Given the description of an element on the screen output the (x, y) to click on. 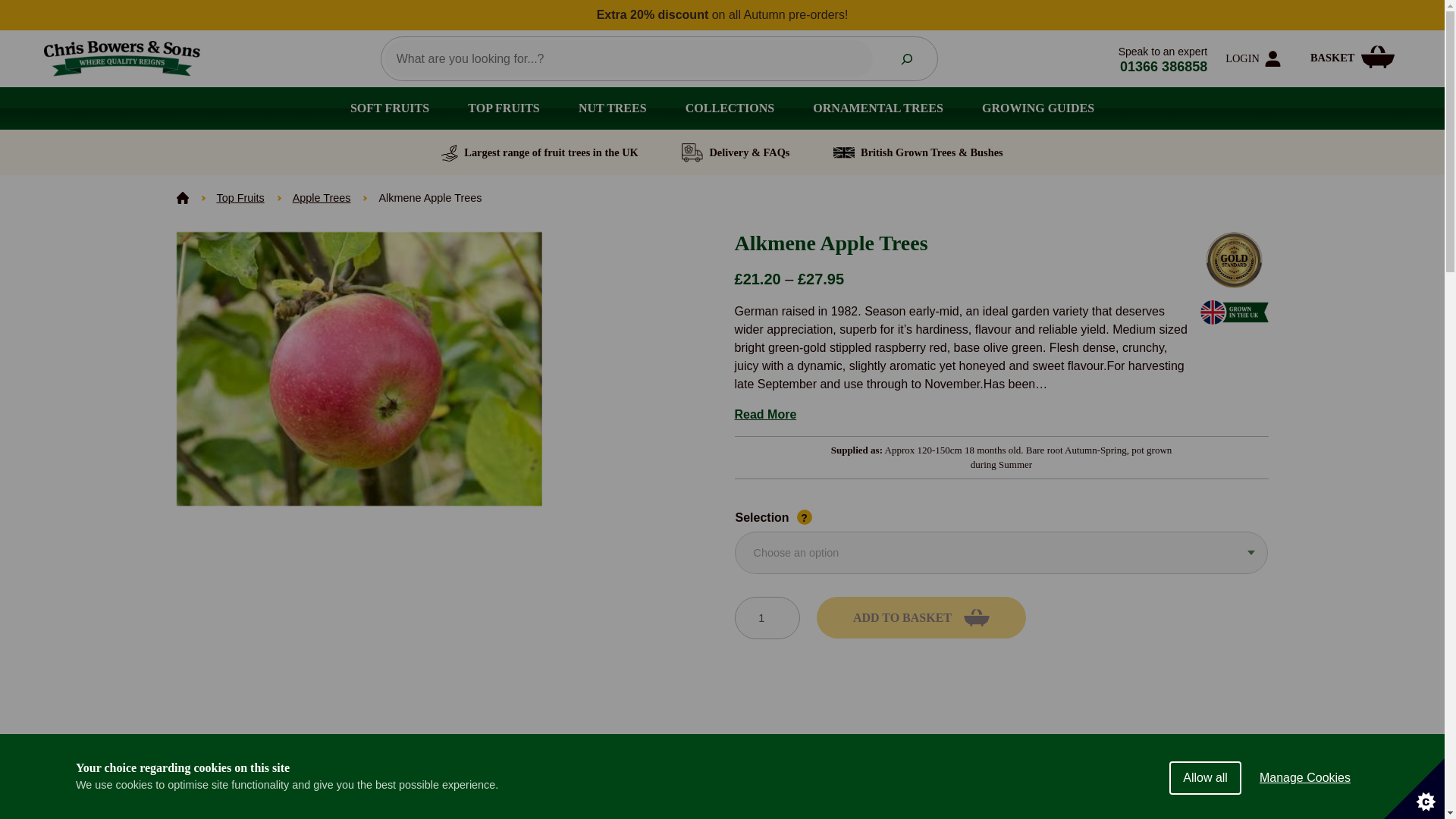
1 (766, 618)
Alkmene Apple Trees (358, 368)
SOFT FRUITS (389, 107)
TOP FRUITS (503, 107)
Harvest in December (1218, 792)
01366 386858 (1163, 66)
LOGIN (1255, 58)
Table showing the flowering and harvesting months (722, 788)
gold-standard-award (1233, 260)
Harvest in November (1131, 792)
Harvest in October (1043, 792)
grown-in-the-uk (1233, 312)
